Given the description of an element on the screen output the (x, y) to click on. 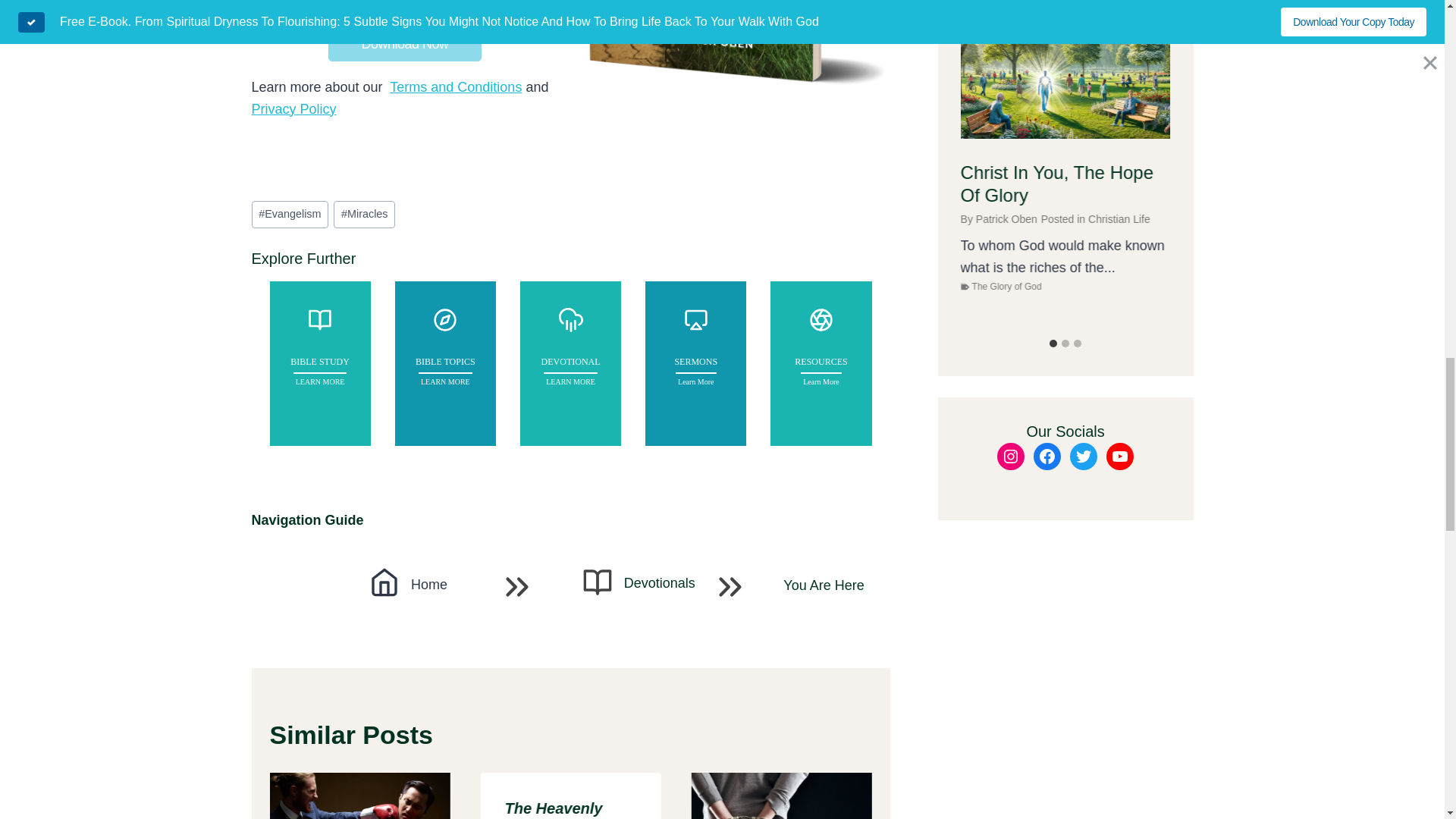
Evangelism (290, 213)
Miracles (363, 213)
